Given the description of an element on the screen output the (x, y) to click on. 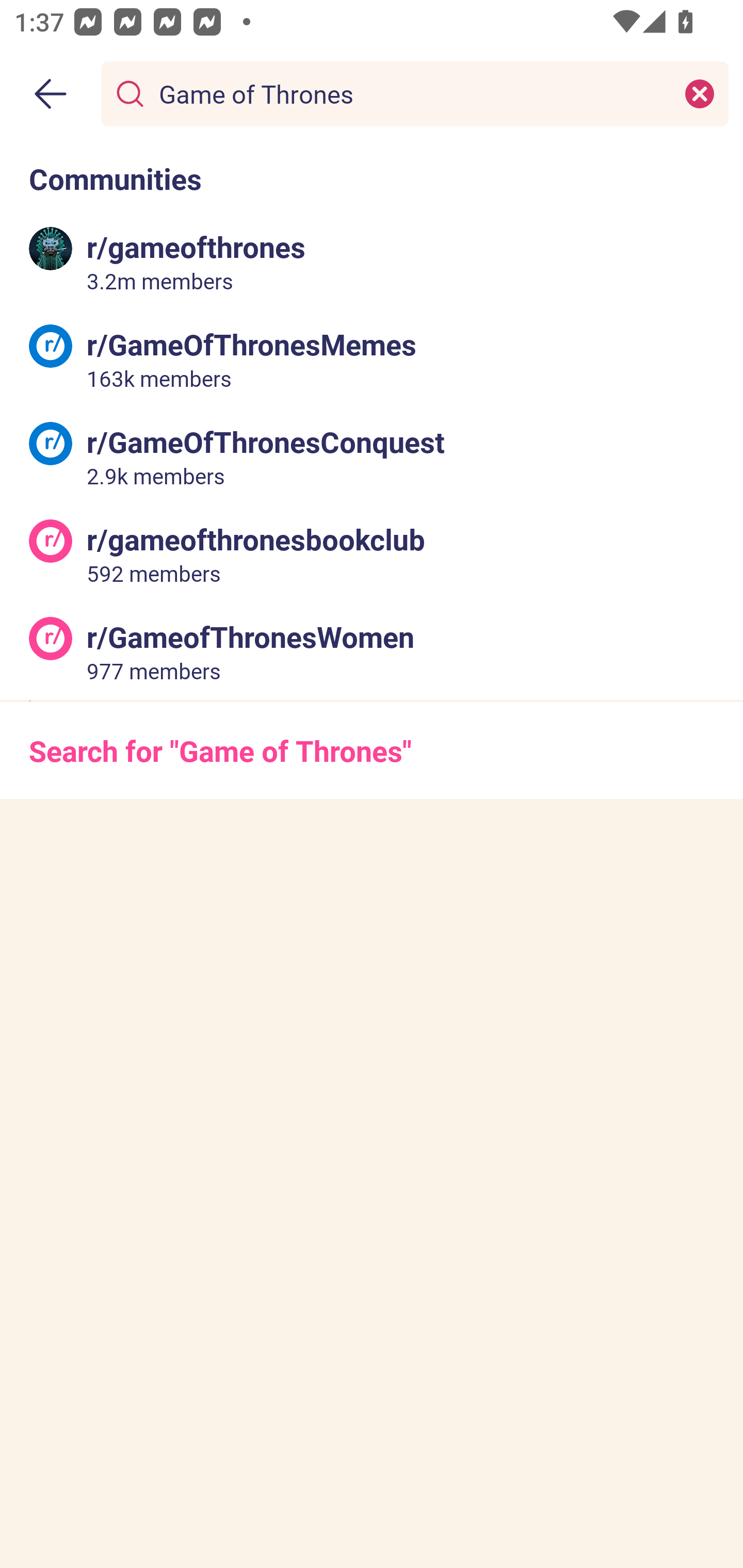
Back (50, 93)
Game of Thrones (410, 93)
Clear search (699, 93)
r/gameofthrones 3.2m members 3.2 million members (371, 261)
r/gameofthronesbookclub 592 members 592 members (371, 553)
r/GameofThronesWomen 977 members 977 members (371, 650)
Search for "Game of Thrones" (371, 750)
